Given the description of an element on the screen output the (x, y) to click on. 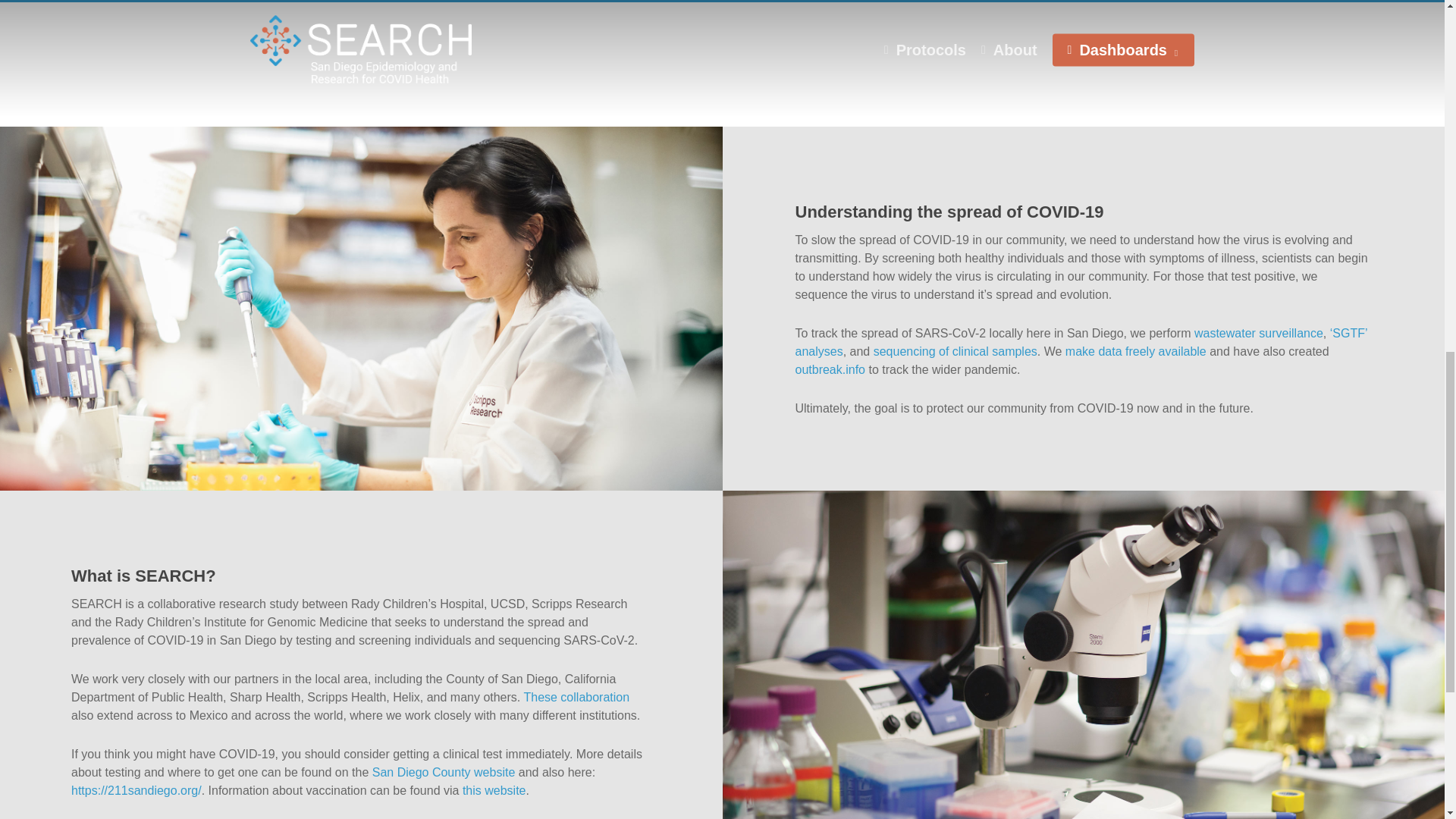
These collaboration (575, 697)
San Diego County website (443, 771)
this website (494, 789)
make data freely available (1136, 350)
outbreak.info (829, 369)
wastewater surveillance (1258, 332)
sequencing of clinical samples (954, 350)
